Given the description of an element on the screen output the (x, y) to click on. 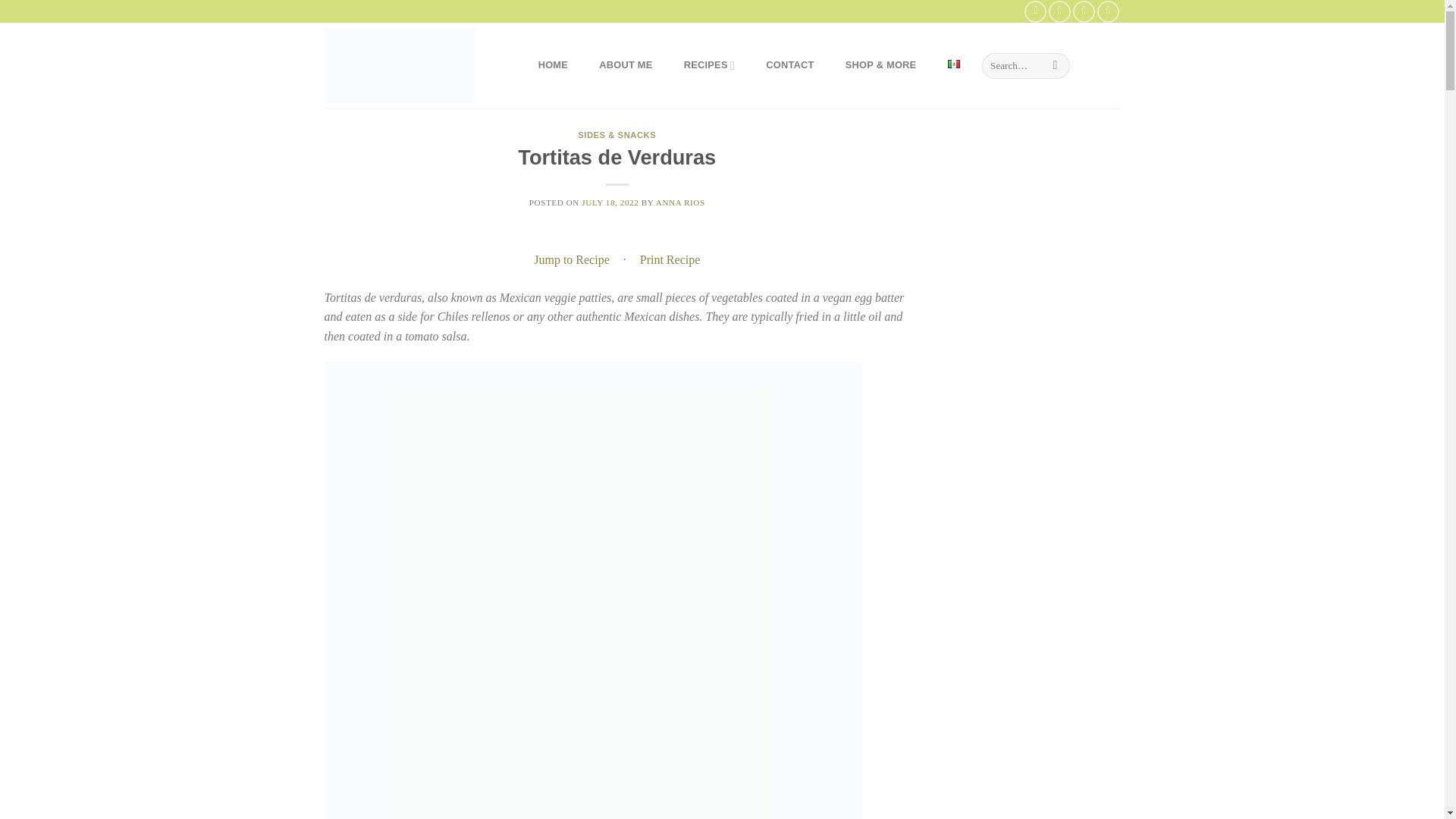
Follow on Pinterest (1083, 11)
JULY 18, 2022 (609, 202)
Follow on YouTube (1108, 11)
Follow on Instagram (1059, 11)
Jump to Recipe (571, 260)
Print Recipe (669, 260)
RECIPES (708, 65)
ABOUT ME (626, 65)
HOME (552, 65)
Follow on Facebook (1035, 11)
